Given the description of an element on the screen output the (x, y) to click on. 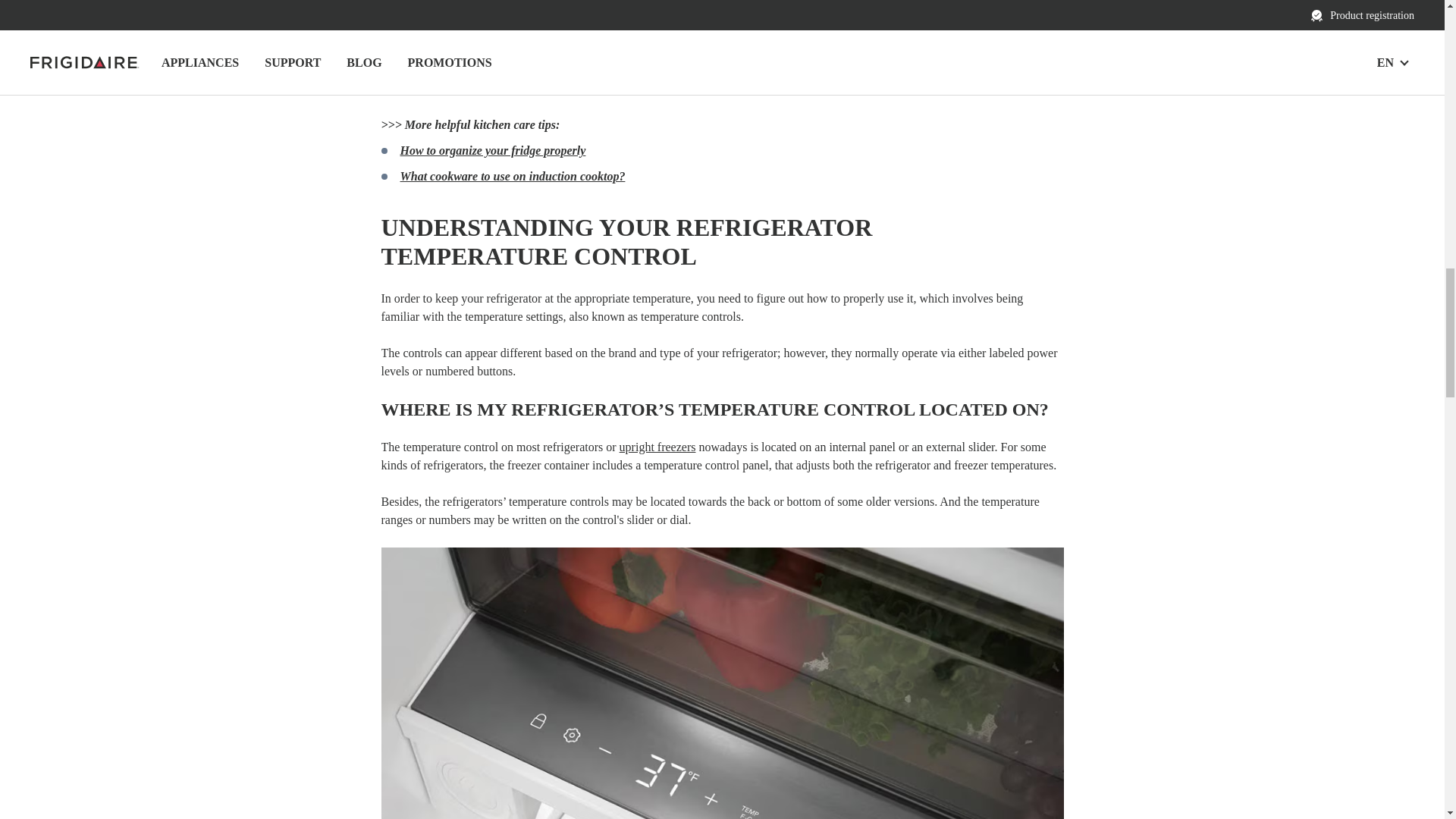
How to organize your fridge properly (493, 150)
upright freezers (657, 446)
What cookware to use on induction cooktop? (513, 175)
